Given the description of an element on the screen output the (x, y) to click on. 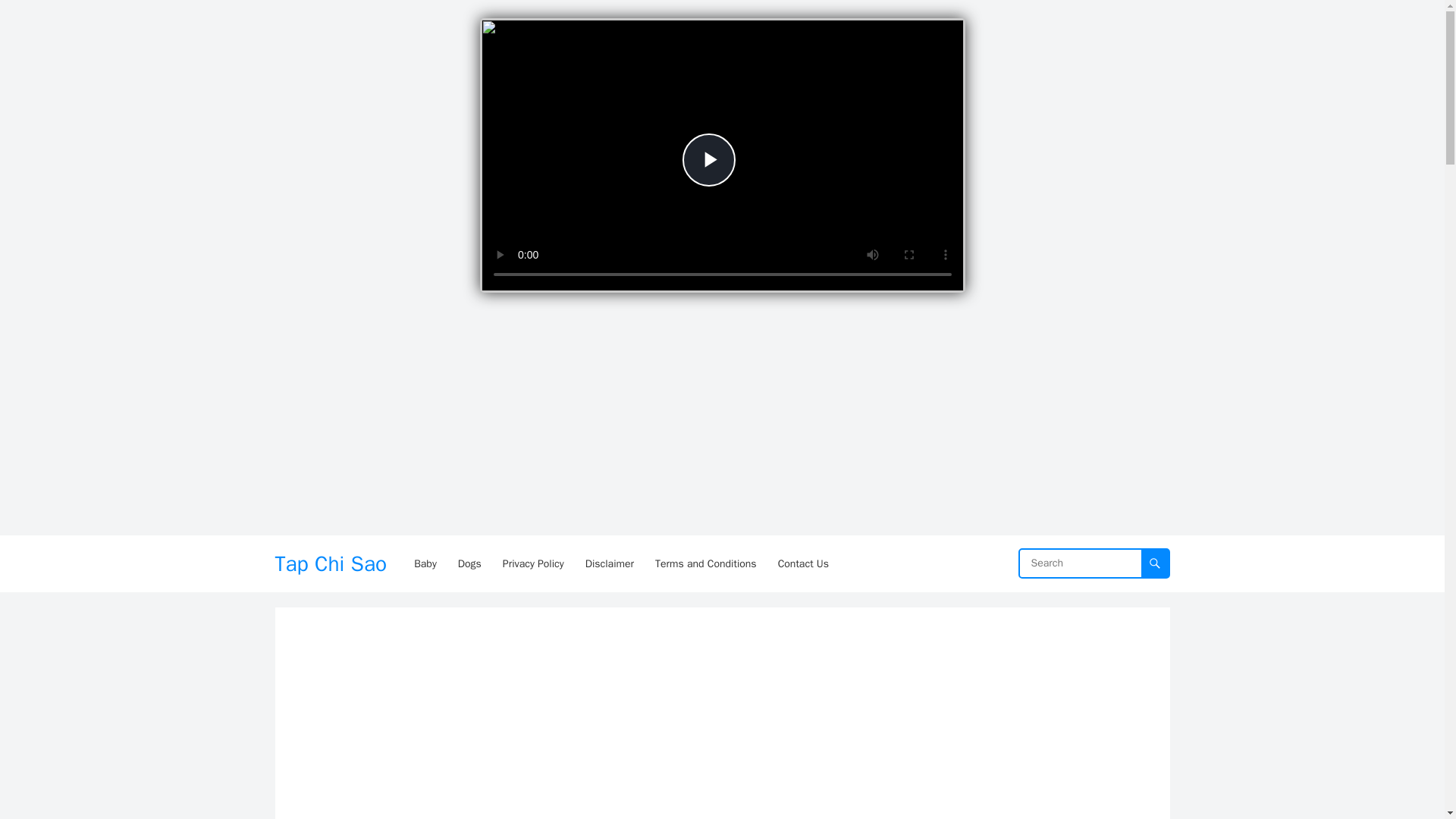
Close (947, 30)
Privacy Policy (533, 563)
Close (947, 30)
Contact Us (803, 563)
Play Video (708, 159)
Disclaimer (609, 563)
Play Video (708, 159)
Terms and Conditions (705, 563)
Tap Chi Sao (331, 563)
